Given the description of an element on the screen output the (x, y) to click on. 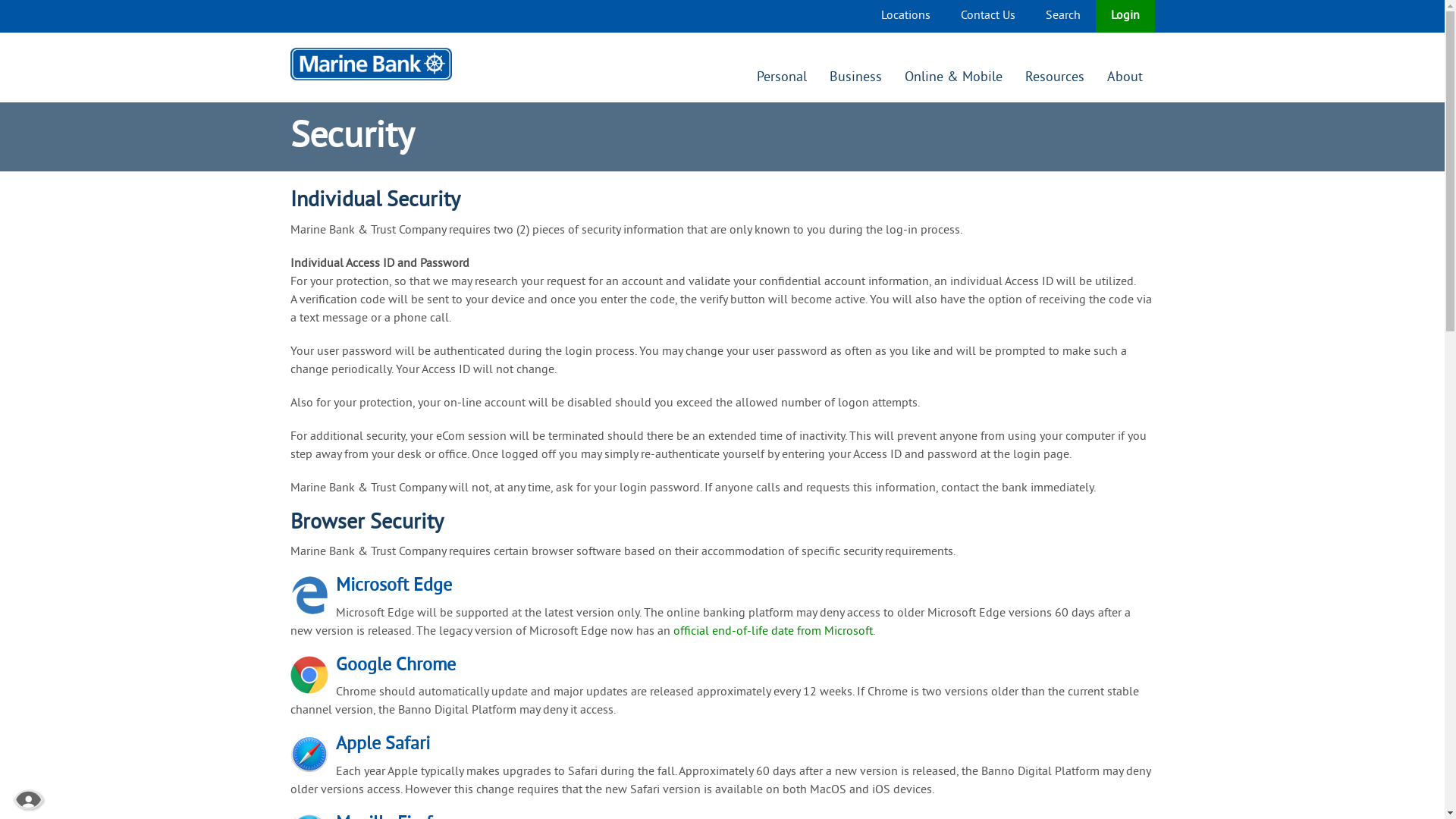
Contact Us Element type: text (987, 15)
Locations Element type: text (905, 15)
Marine Bank and Trust, Vero Beach, FL Element type: hover (370, 63)
